Given the description of an element on the screen output the (x, y) to click on. 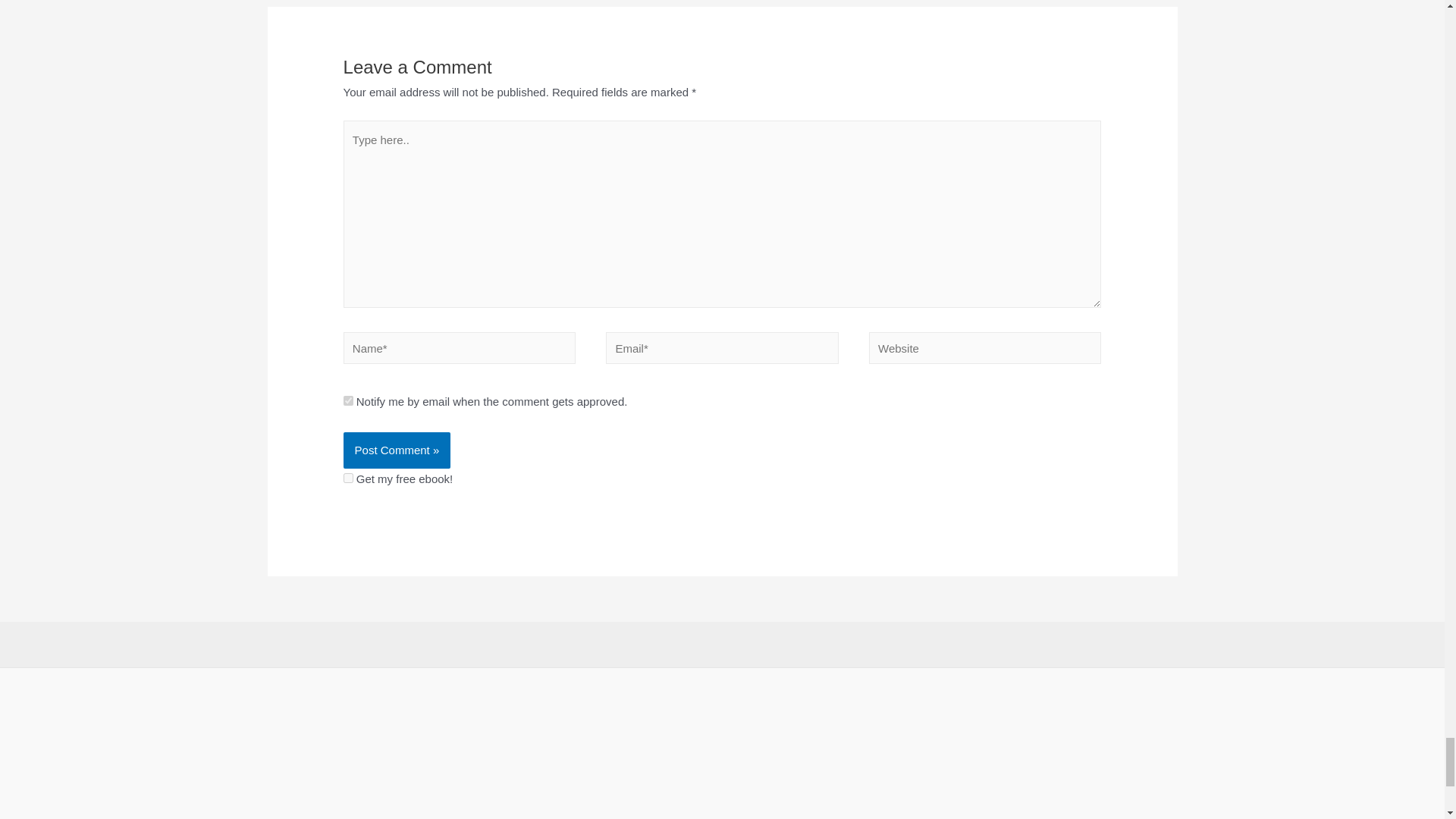
1 (348, 400)
1 (348, 478)
